Given the description of an element on the screen output the (x, y) to click on. 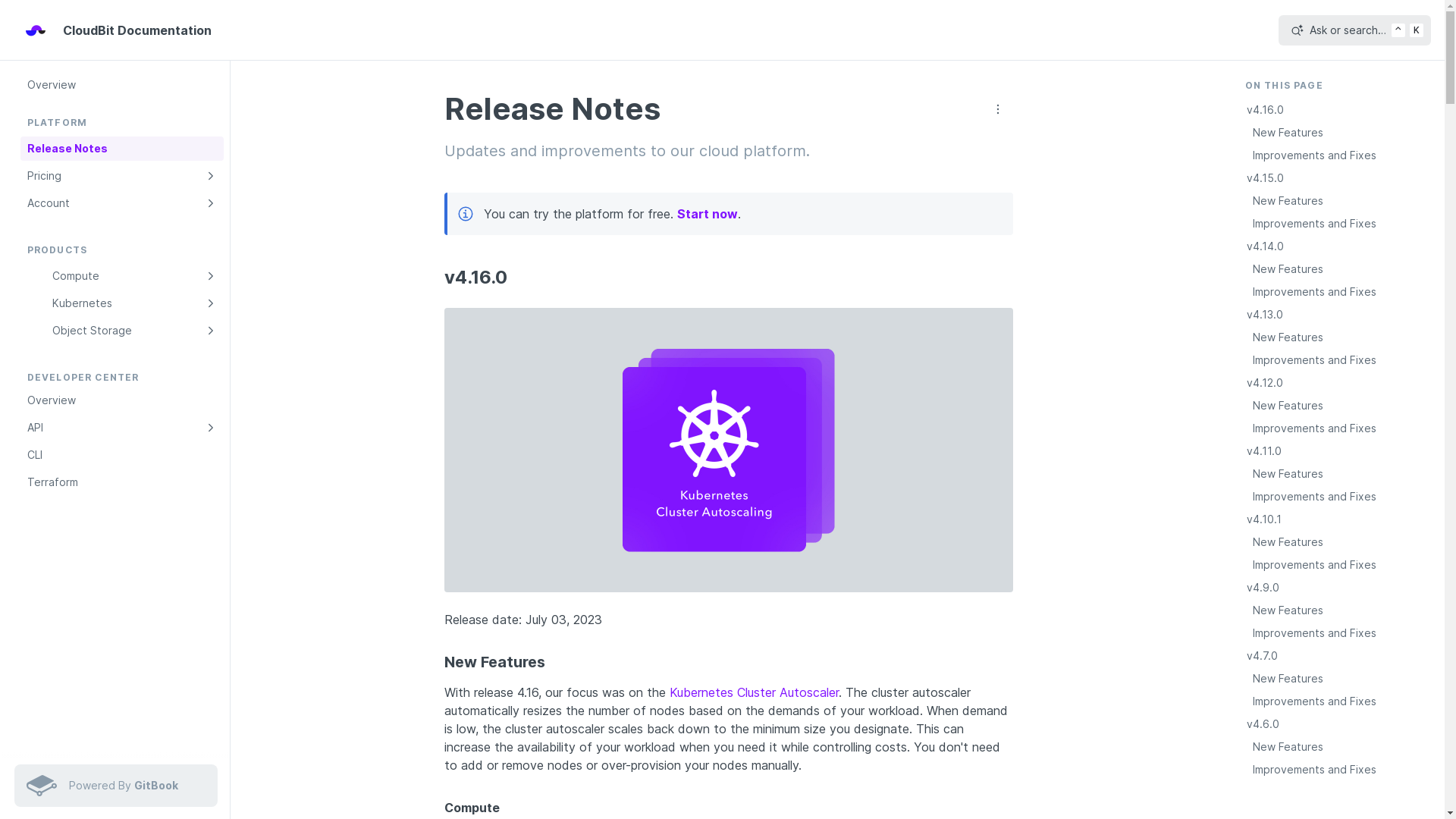
Overview Element type: text (120, 400)
Powered By GitBook Element type: text (114, 785)
Terraform Element type: text (120, 482)
Pricing Element type: text (120, 175)
Account Element type: text (120, 203)
CloudBit Documentation Element type: text (118, 30)
API Element type: text (120, 427)
Release Notes Element type: text (120, 148)
CLI Element type: text (120, 454)
Kubernetes Cluster Autoscaler Element type: text (752, 691)
Start now Element type: text (706, 213)
Overview Element type: text (120, 84)
